Given the description of an element on the screen output the (x, y) to click on. 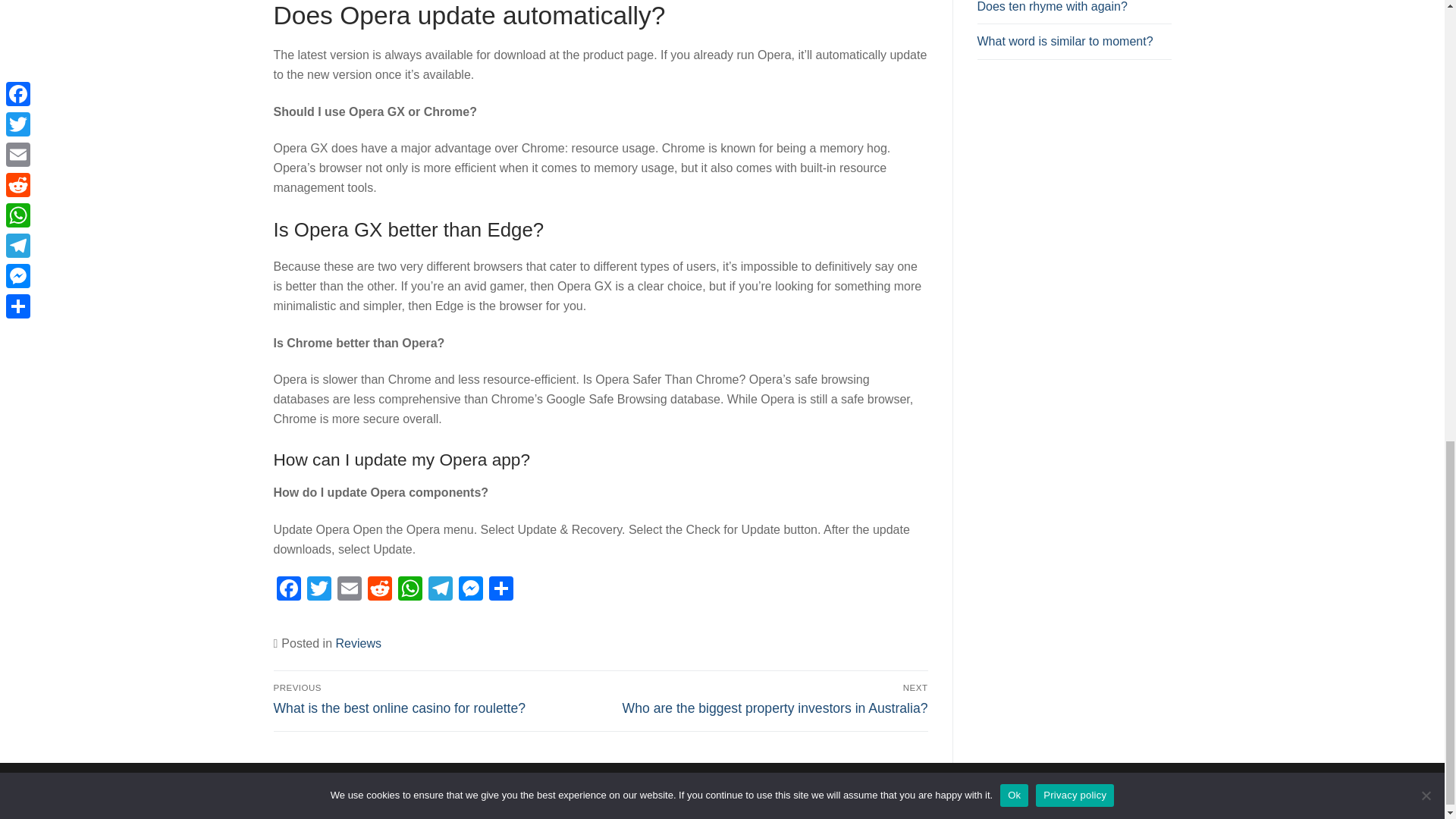
Reddit (379, 590)
WhatsApp (409, 590)
Telegram (439, 590)
Messenger (469, 590)
Twitter (317, 590)
WhatsApp (409, 590)
Email (348, 590)
Facebook (287, 590)
Messenger (469, 590)
